Given the description of an element on the screen output the (x, y) to click on. 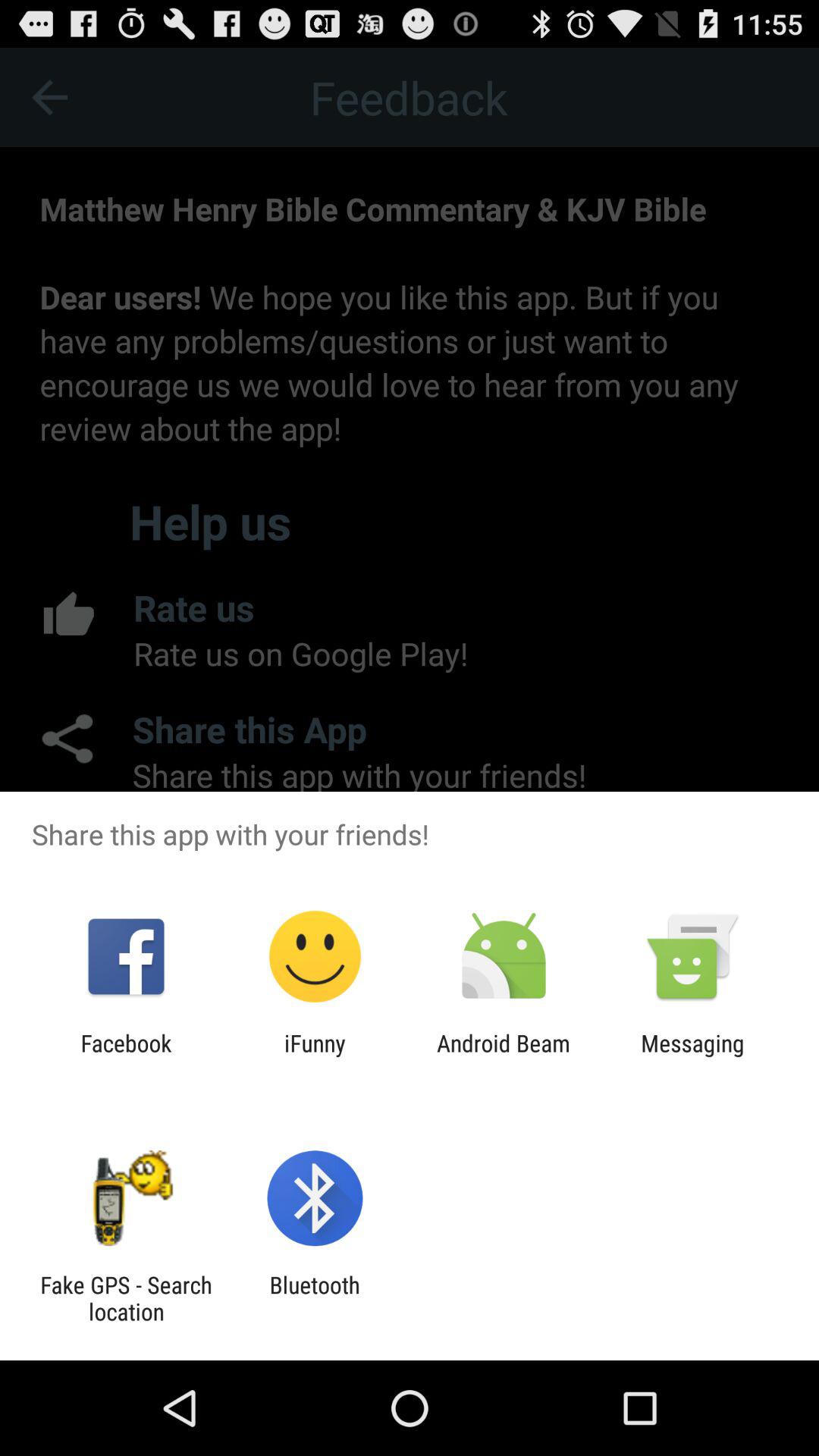
tap the messaging at the bottom right corner (692, 1056)
